Given the description of an element on the screen output the (x, y) to click on. 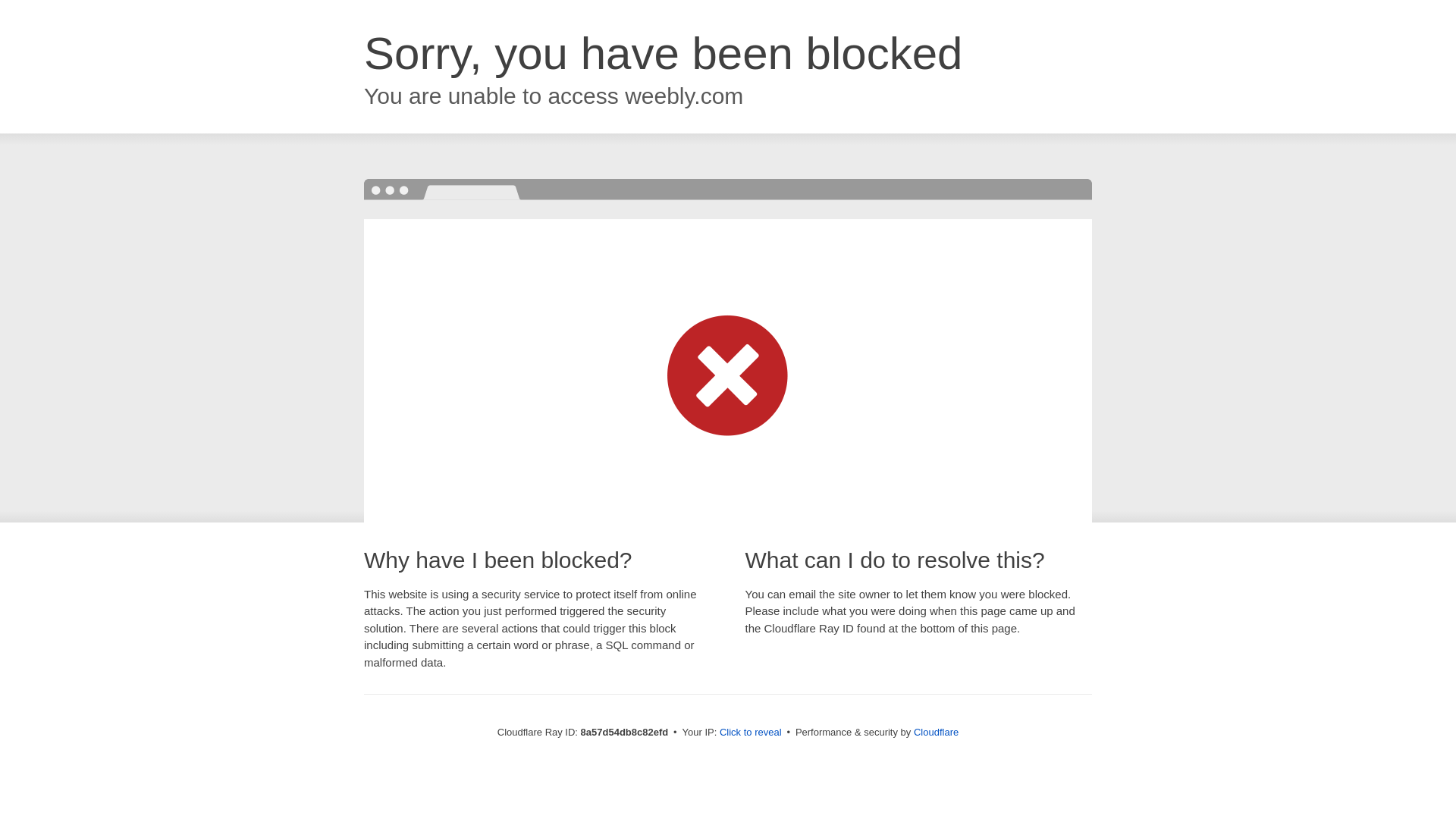
Click to reveal (750, 732)
Cloudflare (936, 731)
